Given the description of an element on the screen output the (x, y) to click on. 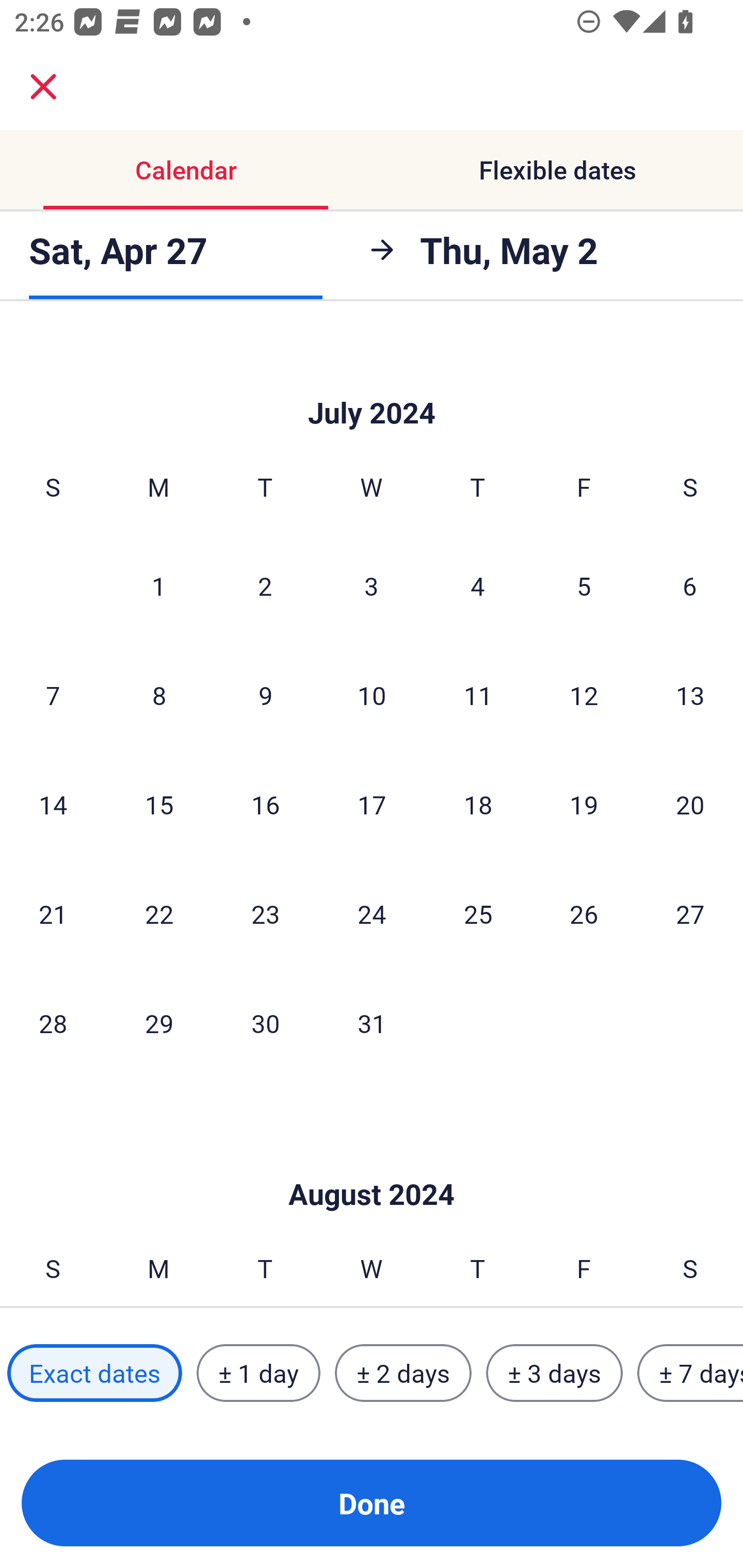
close. (43, 86)
Flexible dates (557, 170)
Skip to Done (371, 381)
1 Monday, July 1, 2024 (158, 585)
2 Tuesday, July 2, 2024 (264, 585)
3 Wednesday, July 3, 2024 (371, 585)
4 Thursday, July 4, 2024 (477, 585)
5 Friday, July 5, 2024 (583, 585)
6 Saturday, July 6, 2024 (689, 585)
7 Sunday, July 7, 2024 (53, 694)
8 Monday, July 8, 2024 (159, 694)
9 Tuesday, July 9, 2024 (265, 694)
10 Wednesday, July 10, 2024 (371, 694)
11 Thursday, July 11, 2024 (477, 694)
12 Friday, July 12, 2024 (584, 694)
13 Saturday, July 13, 2024 (690, 694)
14 Sunday, July 14, 2024 (53, 804)
15 Monday, July 15, 2024 (159, 804)
16 Tuesday, July 16, 2024 (265, 804)
17 Wednesday, July 17, 2024 (371, 804)
18 Thursday, July 18, 2024 (477, 804)
19 Friday, July 19, 2024 (584, 804)
20 Saturday, July 20, 2024 (690, 804)
21 Sunday, July 21, 2024 (53, 912)
22 Monday, July 22, 2024 (159, 912)
23 Tuesday, July 23, 2024 (265, 912)
24 Wednesday, July 24, 2024 (371, 912)
25 Thursday, July 25, 2024 (477, 912)
26 Friday, July 26, 2024 (584, 912)
27 Saturday, July 27, 2024 (690, 912)
28 Sunday, July 28, 2024 (53, 1022)
29 Monday, July 29, 2024 (159, 1022)
30 Tuesday, July 30, 2024 (265, 1022)
31 Wednesday, July 31, 2024 (371, 1022)
Skip to Done (371, 1163)
Exact dates (94, 1372)
± 1 day (258, 1372)
± 2 days (403, 1372)
± 3 days (553, 1372)
± 7 days (690, 1372)
Done (371, 1502)
